Given the description of an element on the screen output the (x, y) to click on. 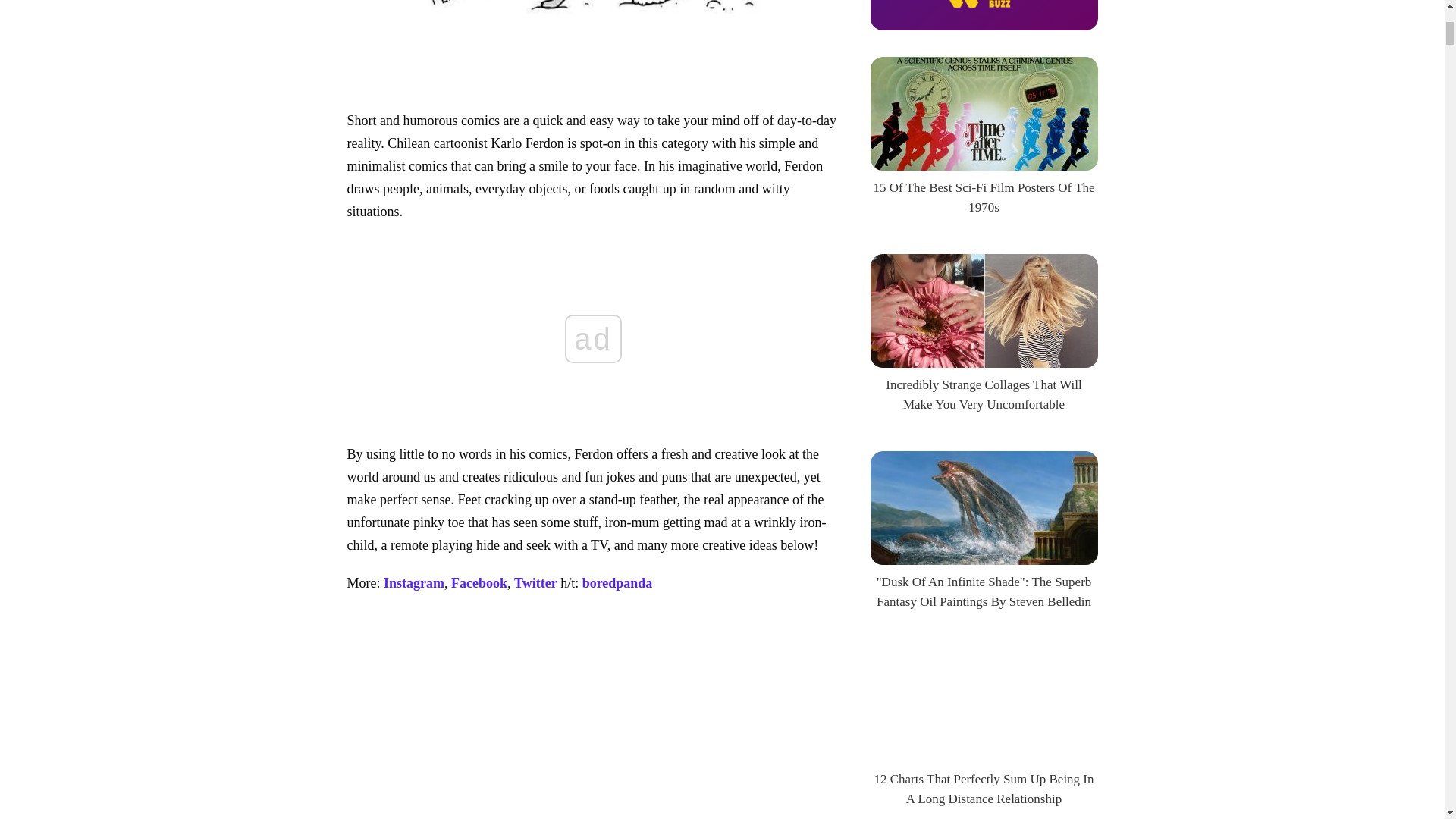
Facebook (478, 582)
Instagram (414, 582)
Twitter (535, 582)
boredpanda (617, 582)
